Given the description of an element on the screen output the (x, y) to click on. 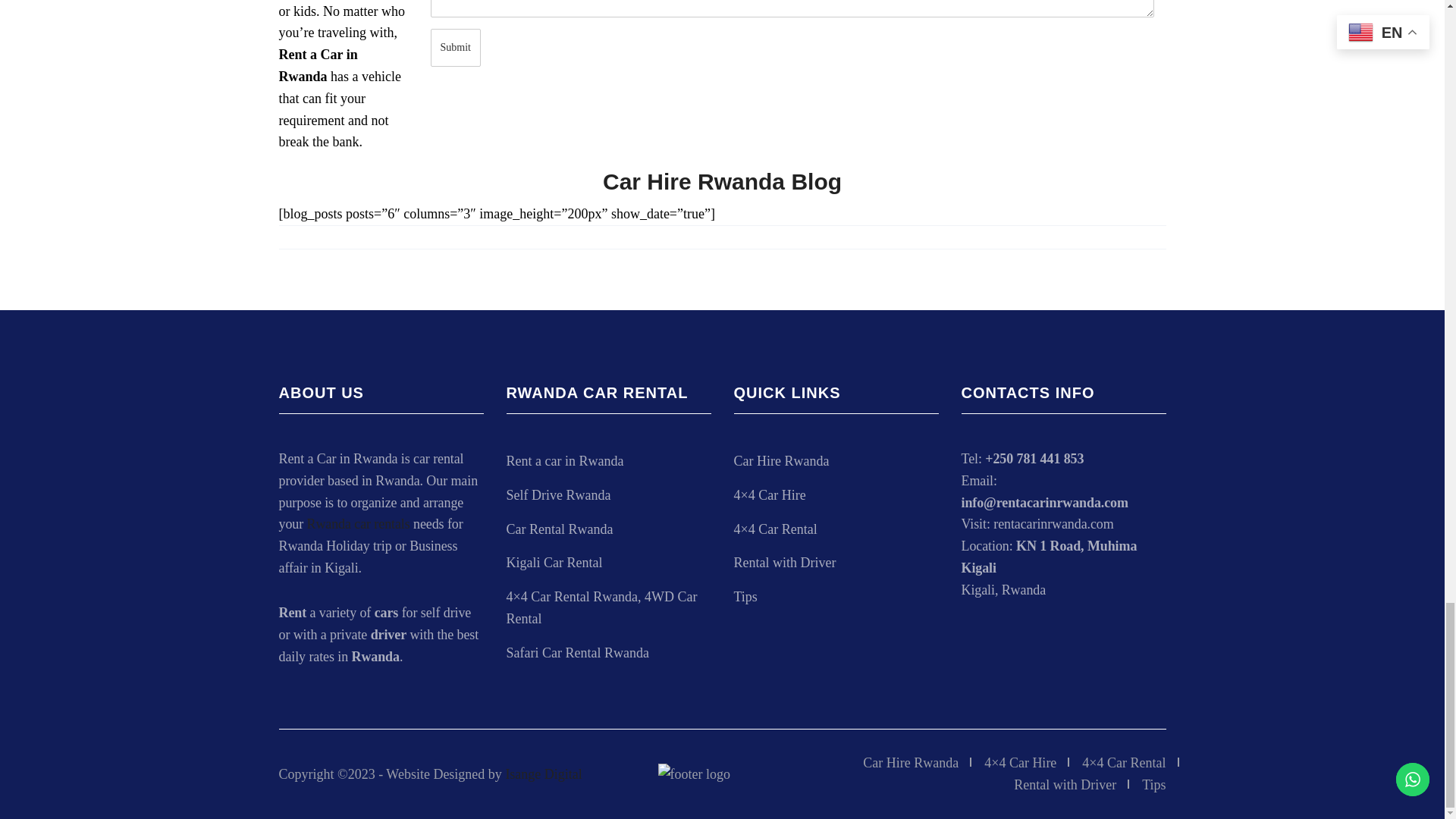
Submit (455, 47)
